Given the description of an element on the screen output the (x, y) to click on. 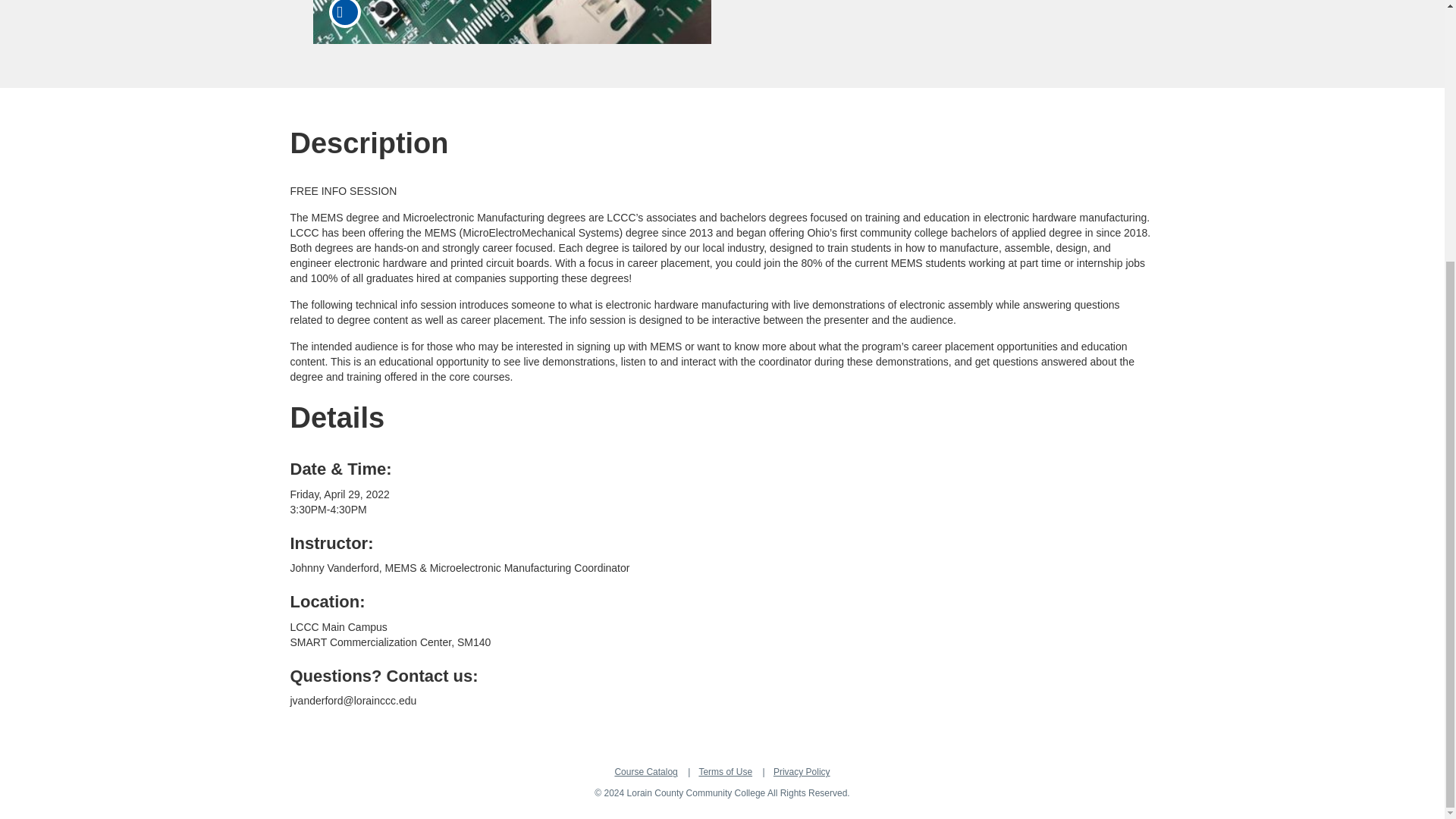
Privacy Policy (801, 771)
Terms of Use (725, 771)
Course (345, 13)
Course Catalog (645, 771)
